Given the description of an element on the screen output the (x, y) to click on. 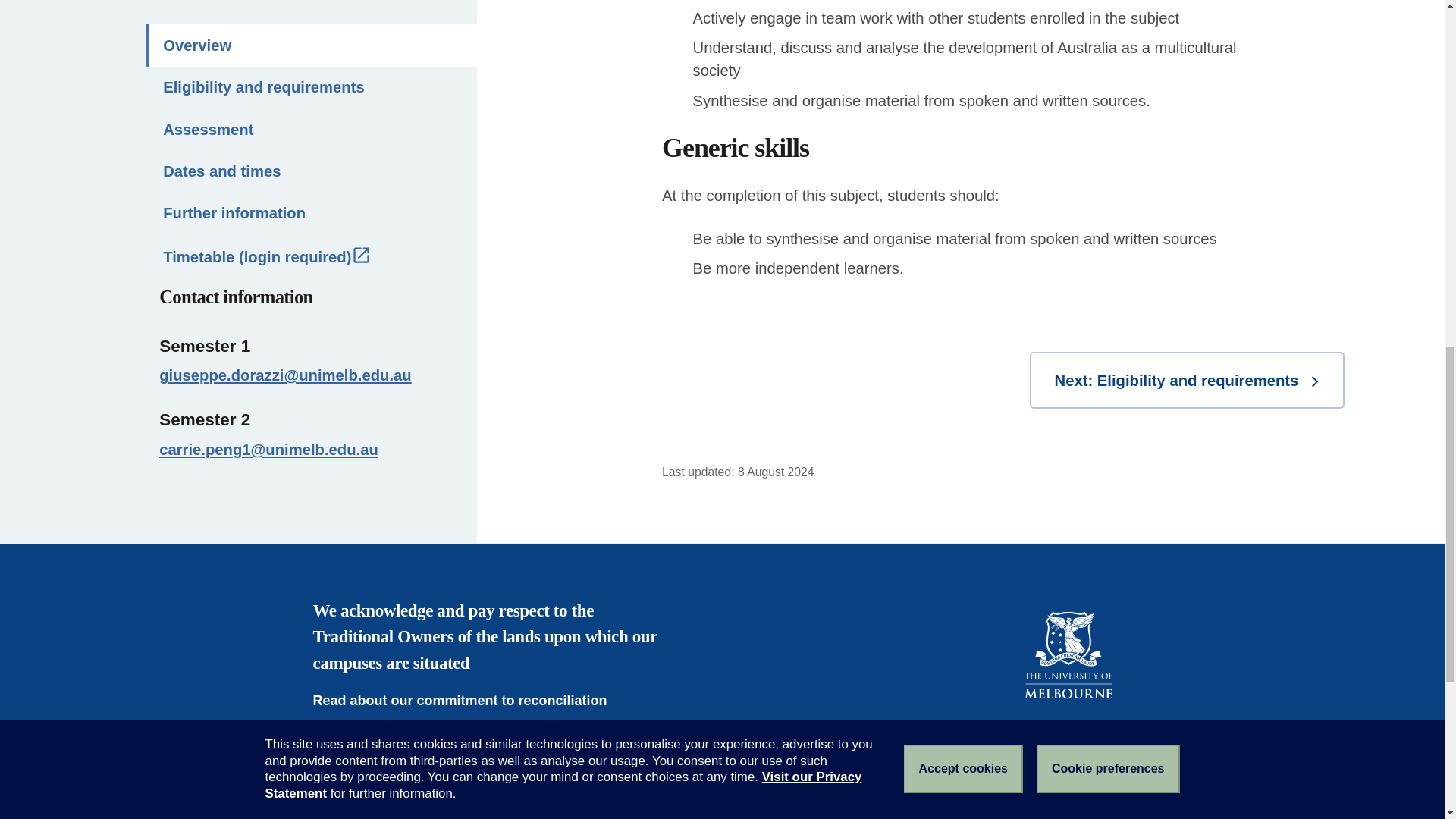
Read about our commitment to reconciliation (470, 701)
About us (353, 775)
Careers at Melbourne (393, 812)
Next: Eligibility and requirements (1186, 380)
